Given the description of an element on the screen output the (x, y) to click on. 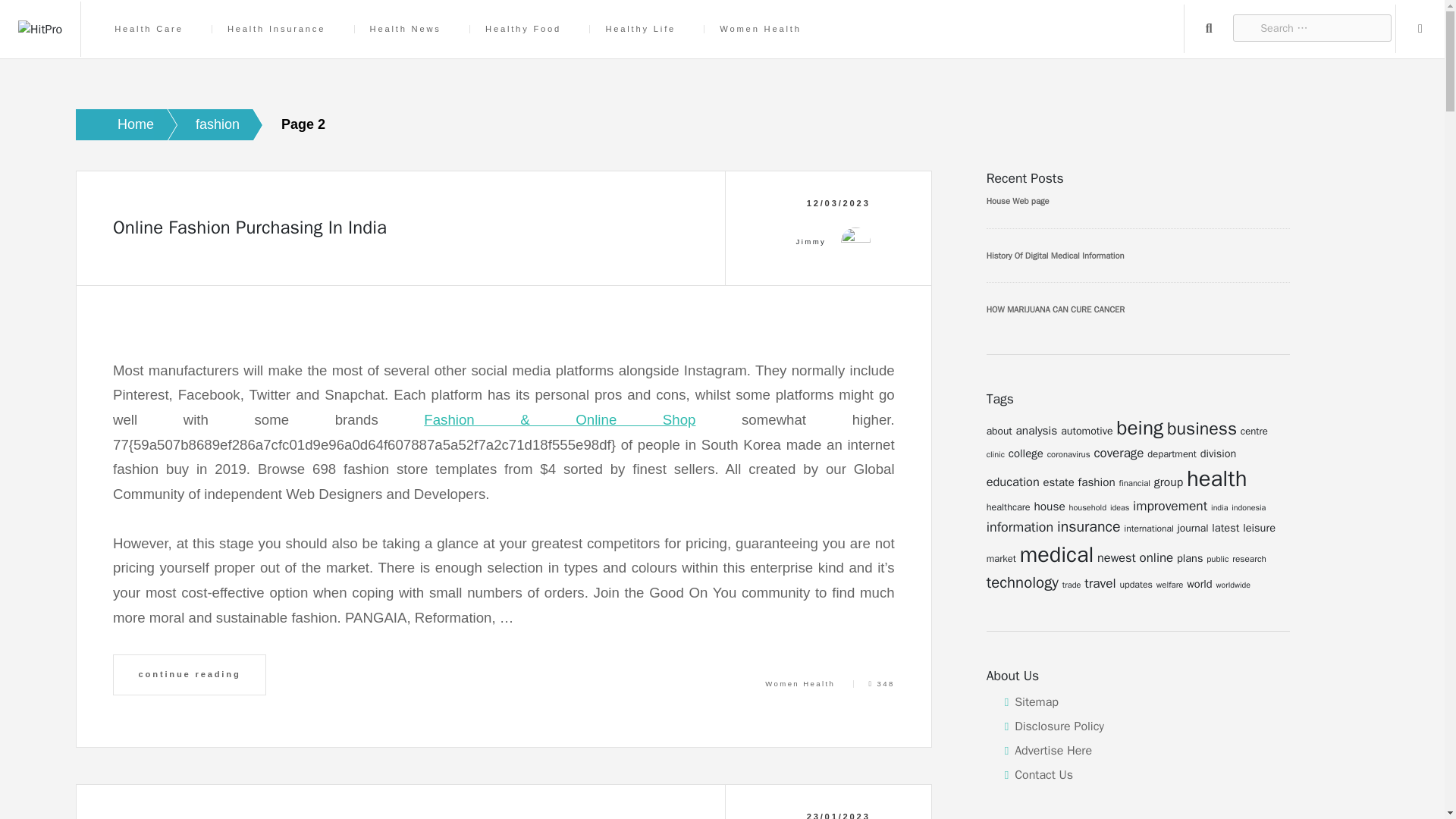
Health Insurance (275, 29)
Healthy Life (639, 29)
Women Health (759, 29)
Health Care (148, 29)
Online Fashion Purchasing In India (250, 227)
Jimmy (811, 241)
Women Health (799, 683)
Health News (405, 29)
Healthy Food (522, 29)
Search (1209, 28)
